Given the description of an element on the screen output the (x, y) to click on. 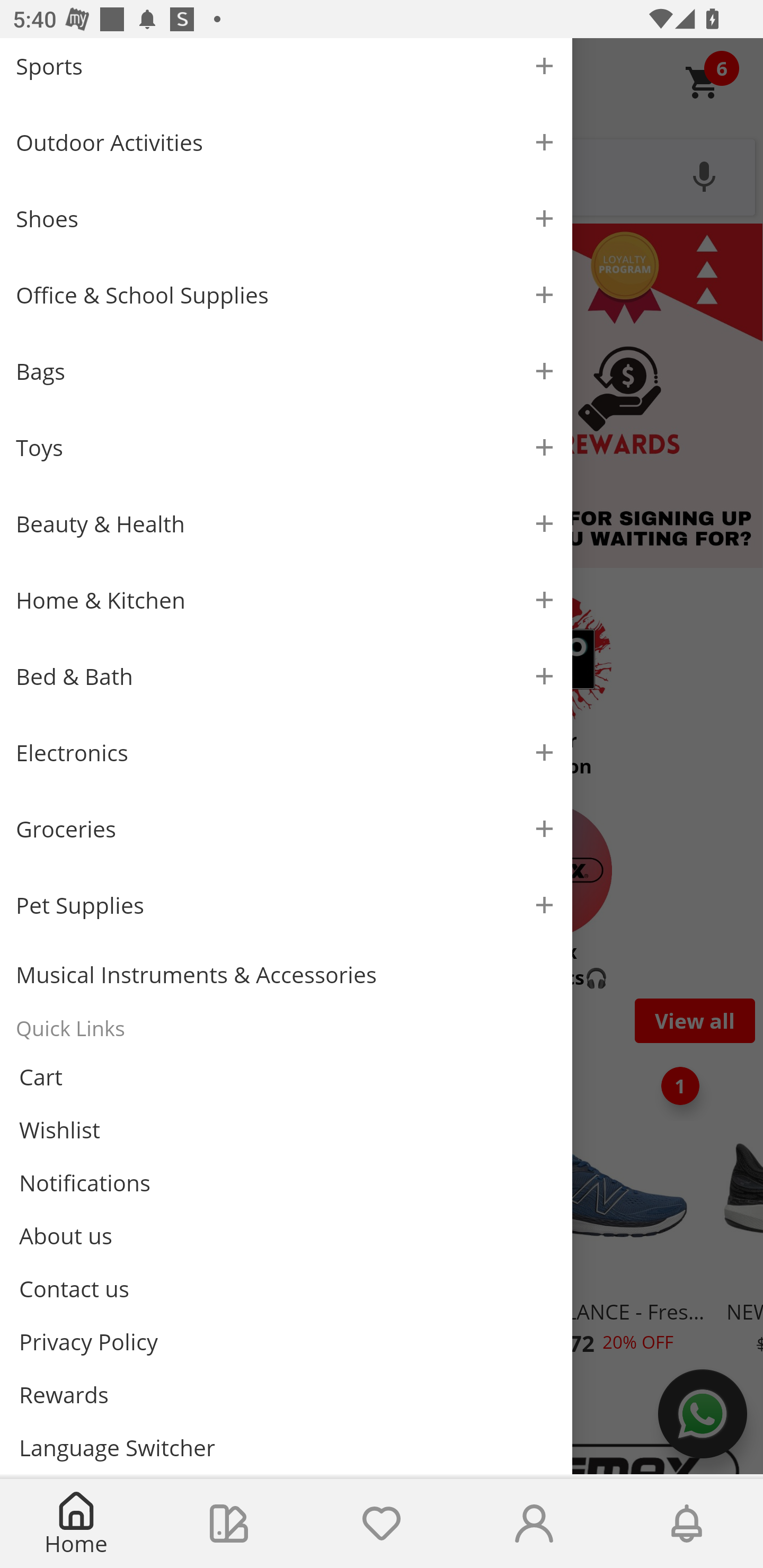
Sports (286, 71)
Outdoor Activities (286, 142)
Shoes (286, 218)
Office & School Supplies (286, 294)
Bags (286, 370)
Toys (286, 447)
Beauty & Health (286, 523)
Home & Kitchen (286, 599)
Bed & Bath (286, 676)
Electronics (286, 752)
Groceries (286, 828)
Pet Supplies (286, 905)
Musical Instruments & Accessories (286, 974)
Cart (286, 1076)
Wishlist (286, 1130)
Notifications (286, 1182)
About us (286, 1235)
Contact us (286, 1288)
Privacy Policy (286, 1341)
Rewards (286, 1394)
Language Switcher (286, 1446)
Collections (228, 1523)
Wishlist (381, 1523)
Account (533, 1523)
Notifications (686, 1523)
